Given the description of an element on the screen output the (x, y) to click on. 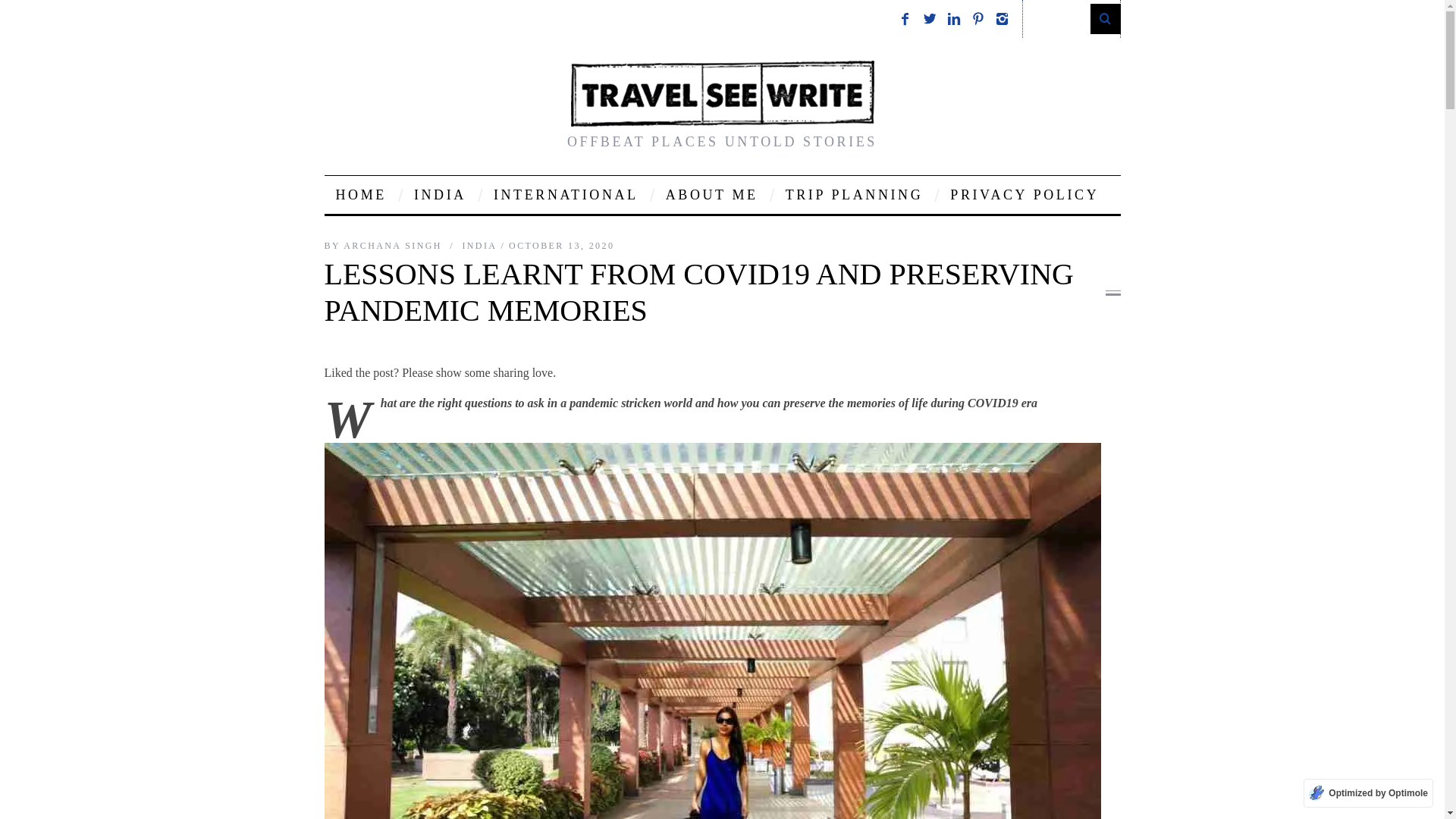
HOME (360, 194)
Search (1071, 18)
INTERNATIONAL (565, 194)
INDIA (440, 194)
